Given the description of an element on the screen output the (x, y) to click on. 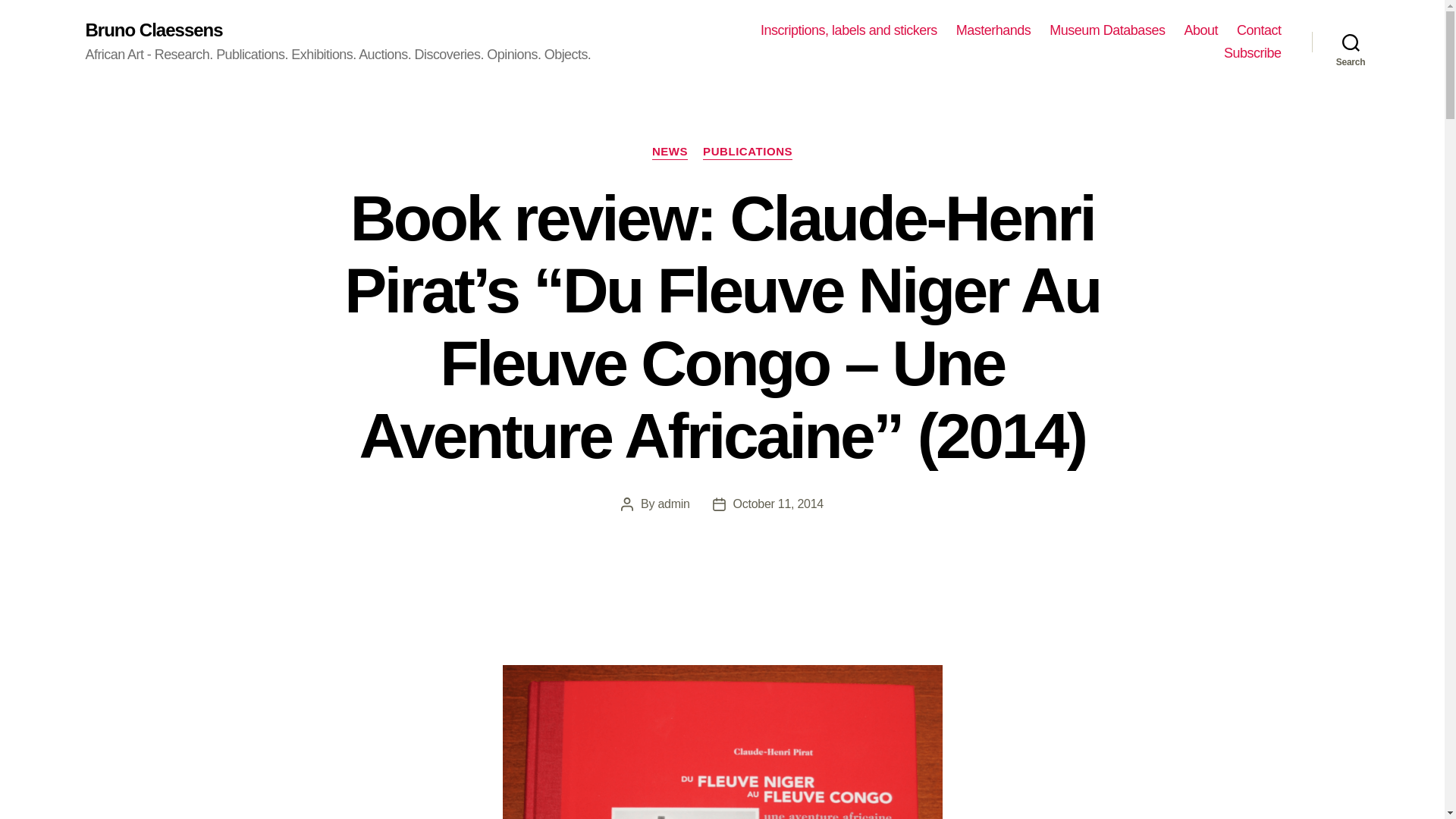
Bruno Claessens (153, 30)
admin (673, 503)
Subscribe (1252, 53)
About (1200, 30)
PUBLICATIONS (747, 151)
Museum Databases (1106, 30)
Masterhands (993, 30)
Search (1350, 41)
Contact (1258, 30)
October 11, 2014 (778, 503)
